Given the description of an element on the screen output the (x, y) to click on. 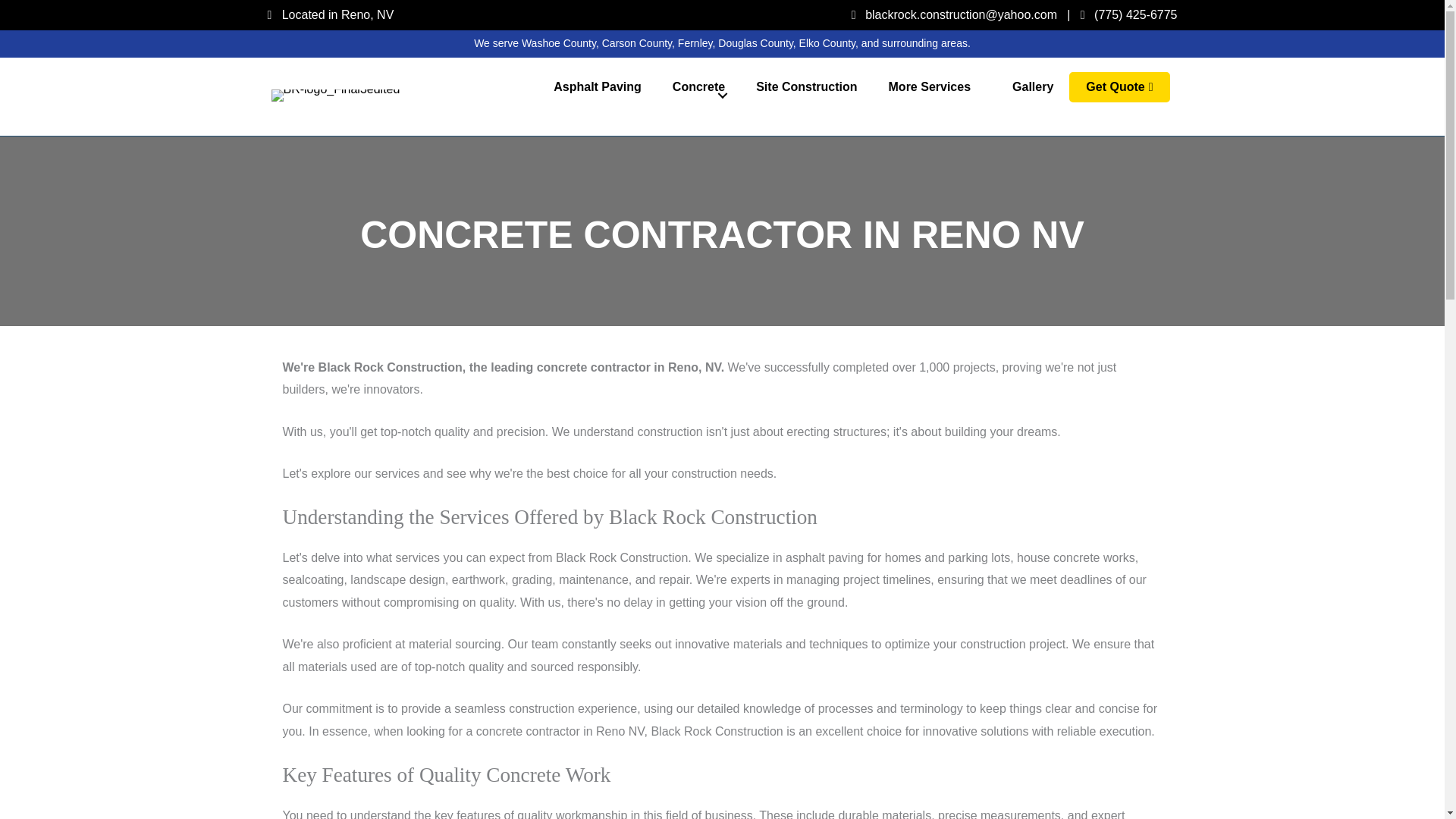
Asphalt Paving (597, 86)
Concrete (698, 86)
More Services (935, 86)
Gallery (1032, 86)
Site Construction (806, 86)
Get Quote (1118, 87)
